Given the description of an element on the screen output the (x, y) to click on. 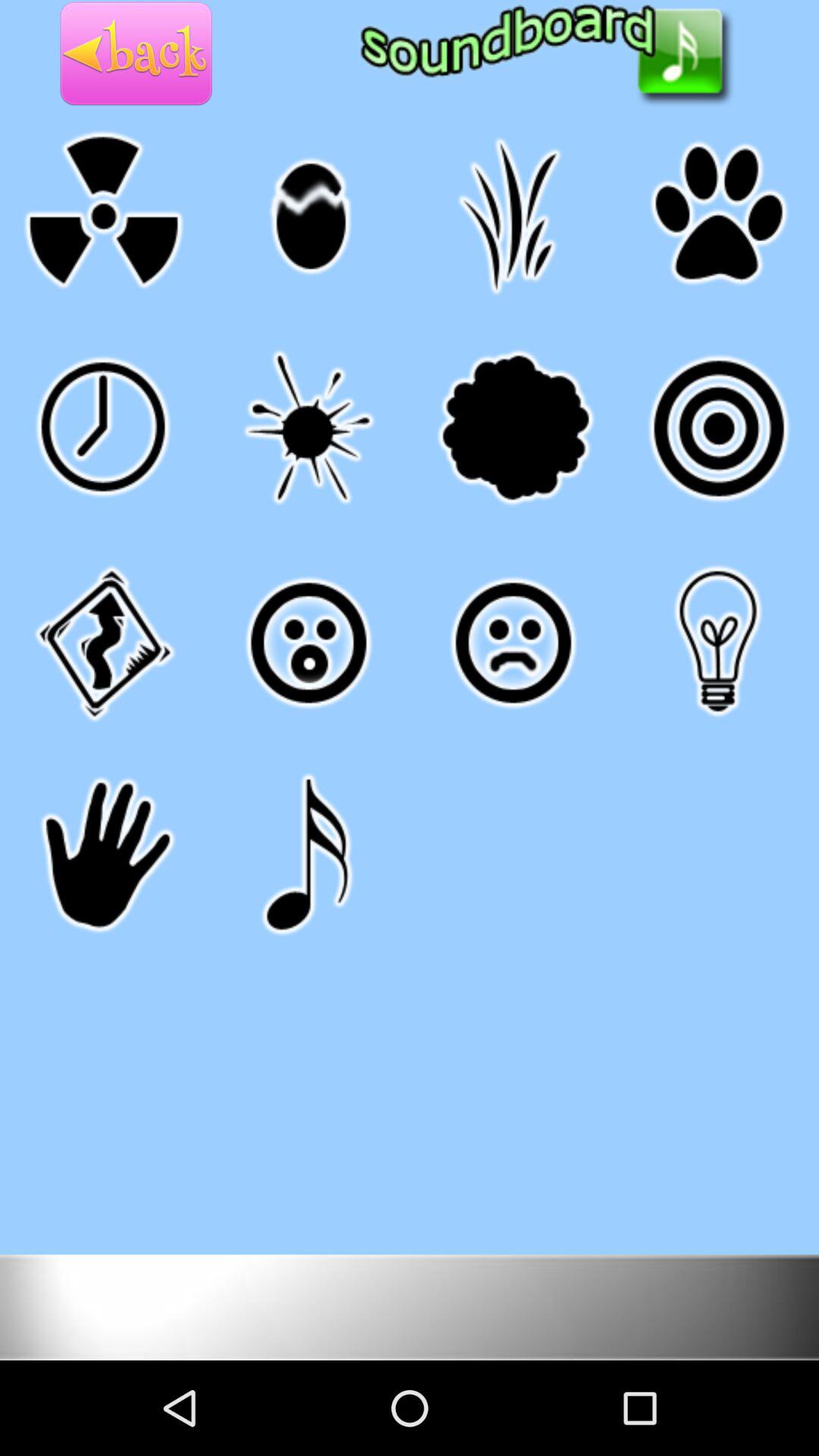
change color (409, 1306)
